Given the description of an element on the screen output the (x, y) to click on. 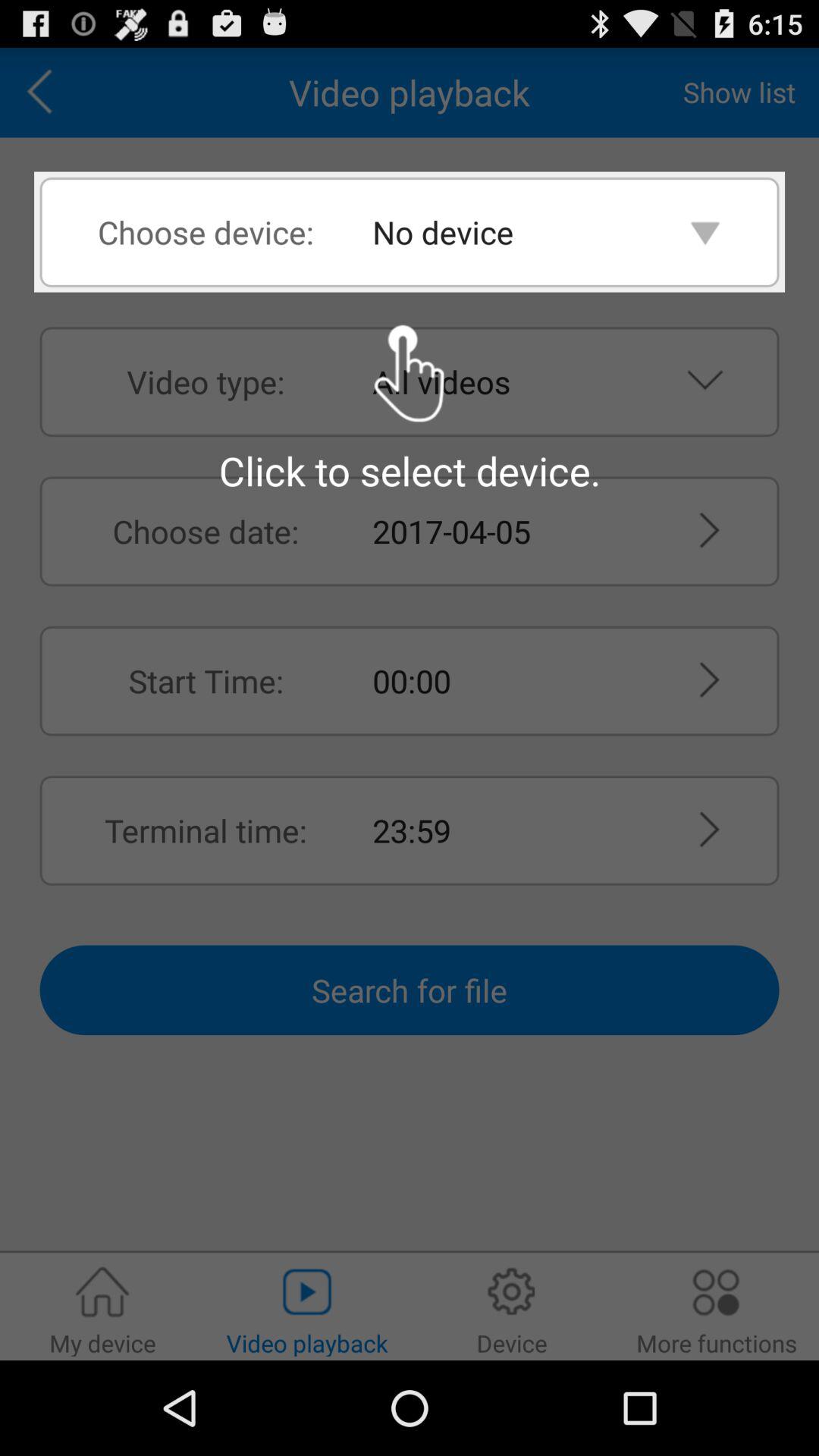
click on the click to select icon (409, 373)
select the icon which is above the device (511, 1291)
